Given the description of an element on the screen output the (x, y) to click on. 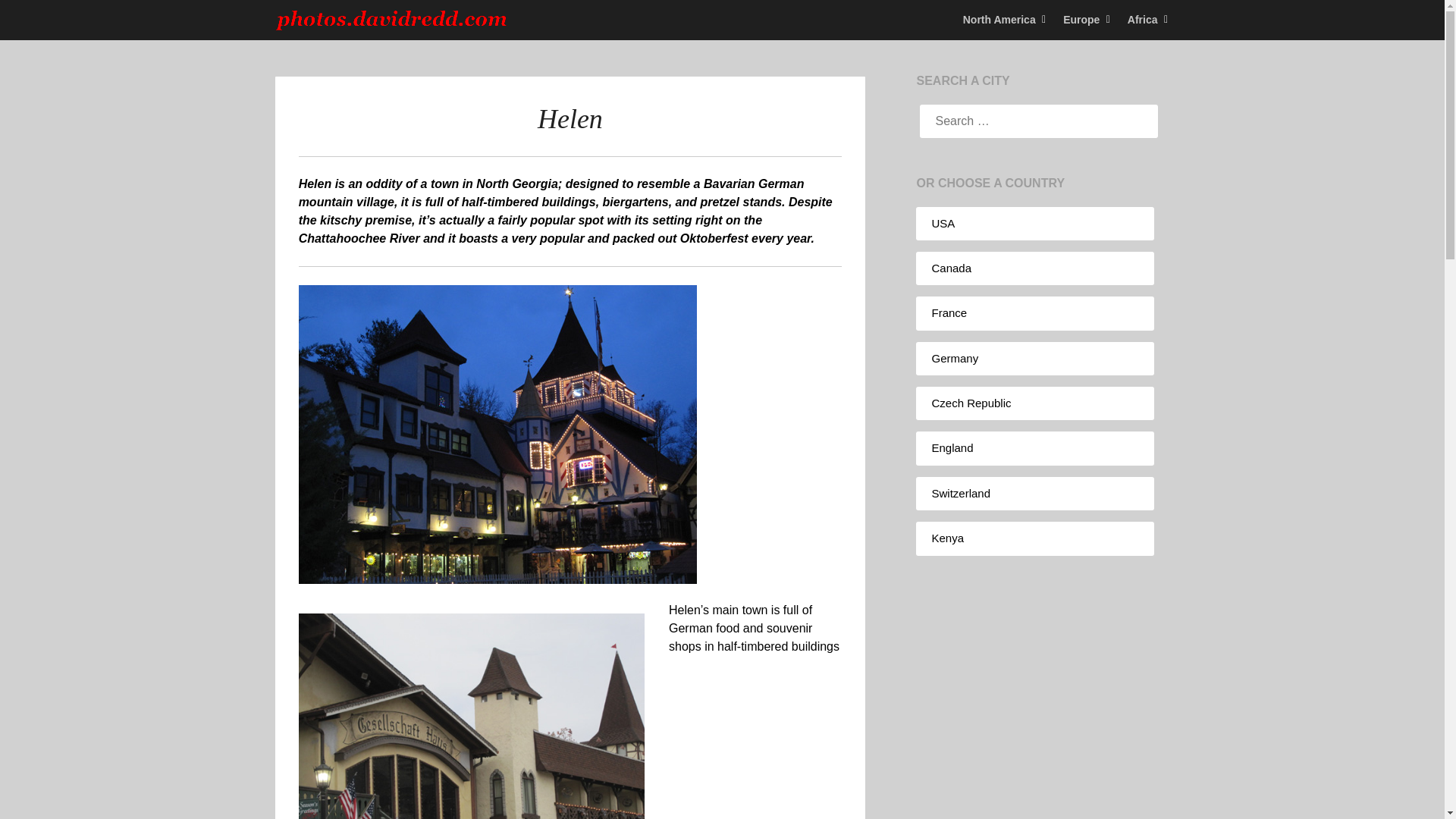
England (951, 447)
Kenya (947, 537)
Canada (951, 267)
Switzerland (960, 492)
USA (943, 223)
Africa (1142, 20)
France (948, 312)
Search (38, 22)
Europe (1081, 20)
Czech Republic (970, 402)
North America (1005, 20)
Germany (954, 358)
